Given the description of an element on the screen output the (x, y) to click on. 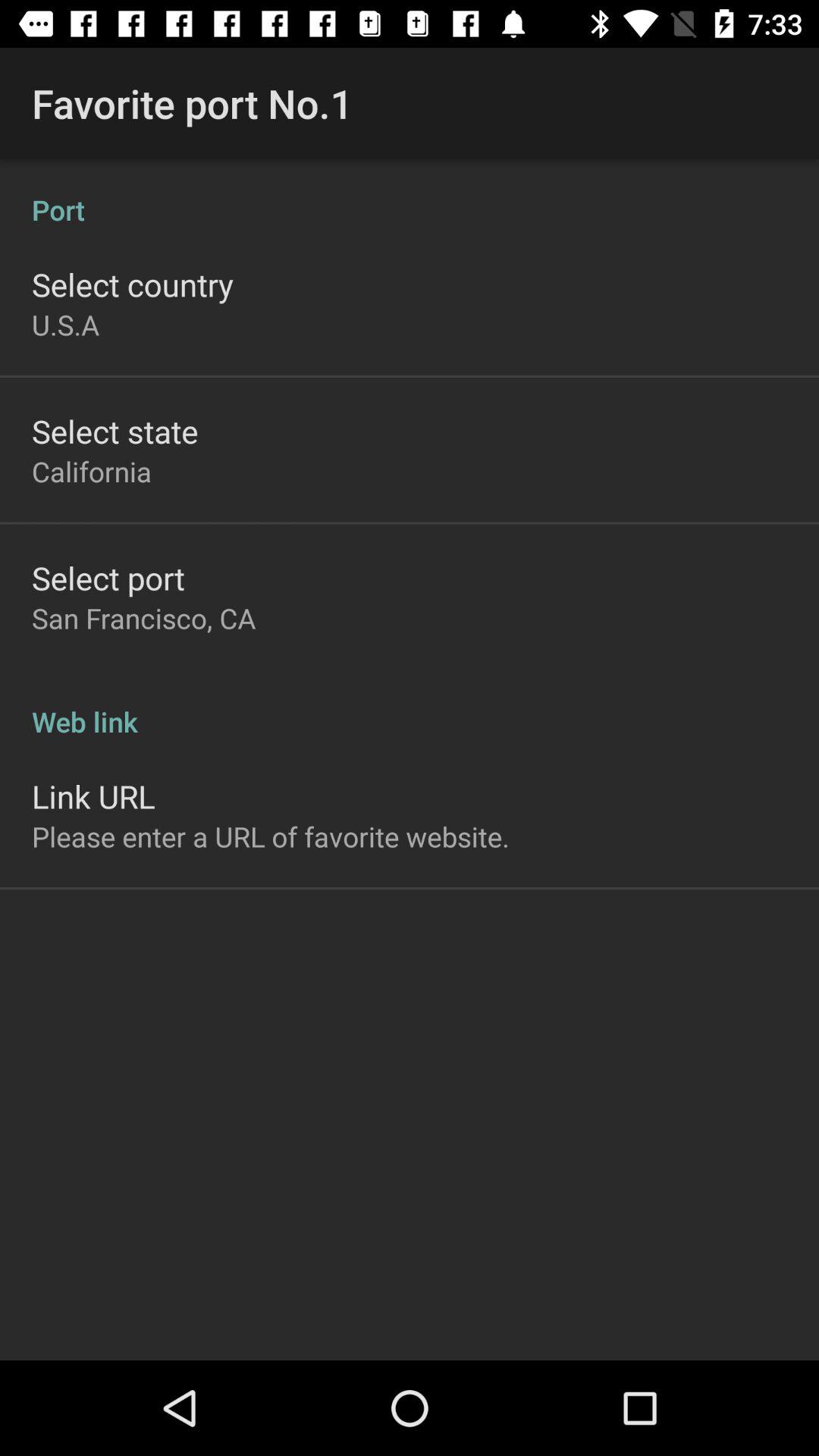
click u.s.a app (65, 324)
